Given the description of an element on the screen output the (x, y) to click on. 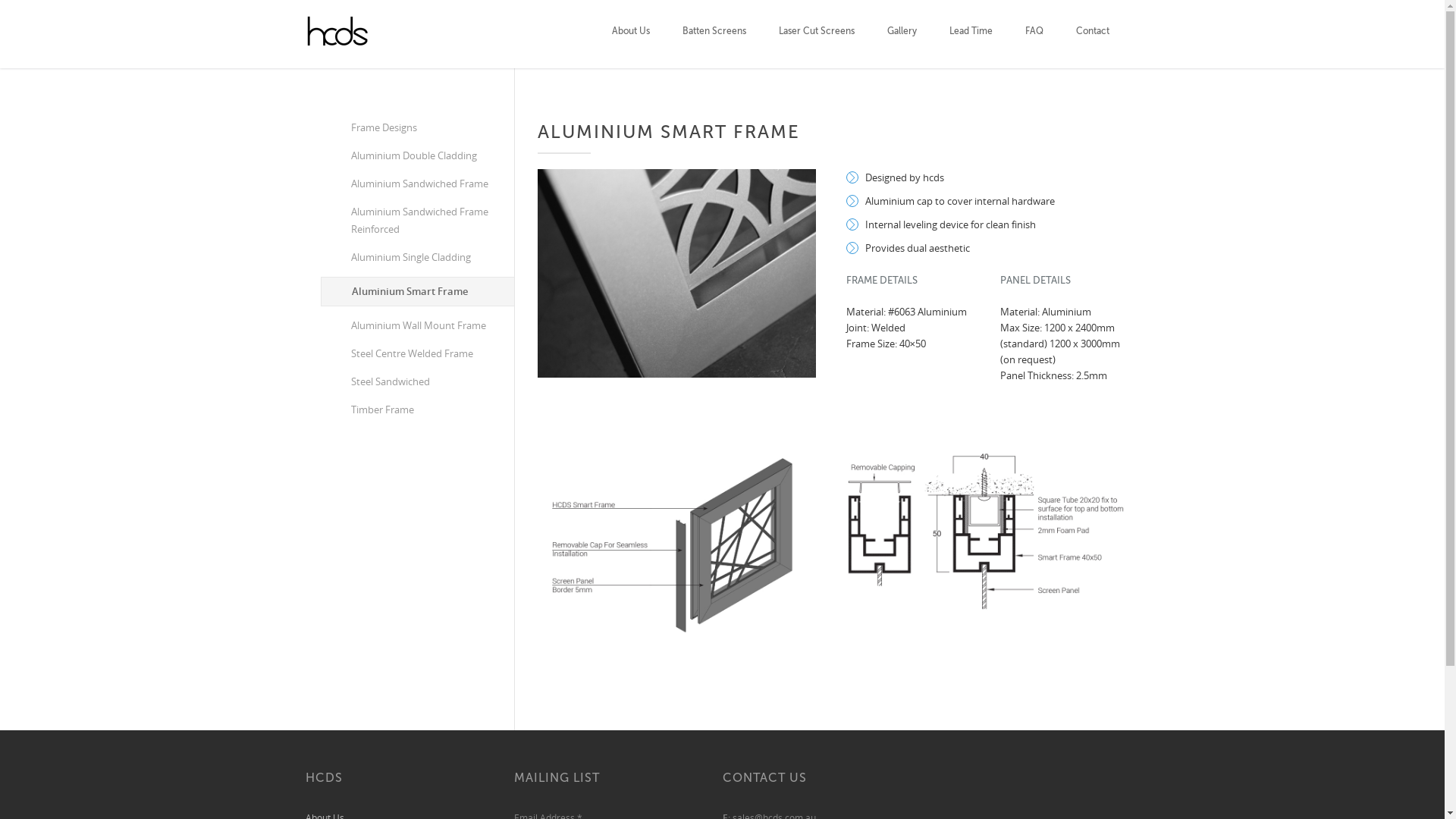
Aluminium Double Cladding Element type: text (416, 155)
Steel Centre Welded Frame Element type: text (416, 353)
Timber Frame Element type: text (416, 409)
Aluminium Sandwiched Frame Reinforced Element type: text (416, 220)
Aluminium Smart Frame Element type: text (416, 291)
Aluminium Sandwiched Frame Element type: text (416, 183)
Aluminium Single Cladding Element type: text (416, 257)
Batten Screens Element type: text (714, 34)
Laser Cut Screens Element type: text (815, 34)
Lead Time Element type: text (970, 34)
Gallery Element type: text (901, 34)
FAQ Element type: text (1034, 34)
Steel Sandwiched Element type: text (416, 381)
Contact Element type: text (1091, 34)
Aluminium Wall Mount Frame Element type: text (416, 325)
About Us Element type: text (630, 34)
Frame Designs Element type: text (416, 127)
